Given the description of an element on the screen output the (x, y) to click on. 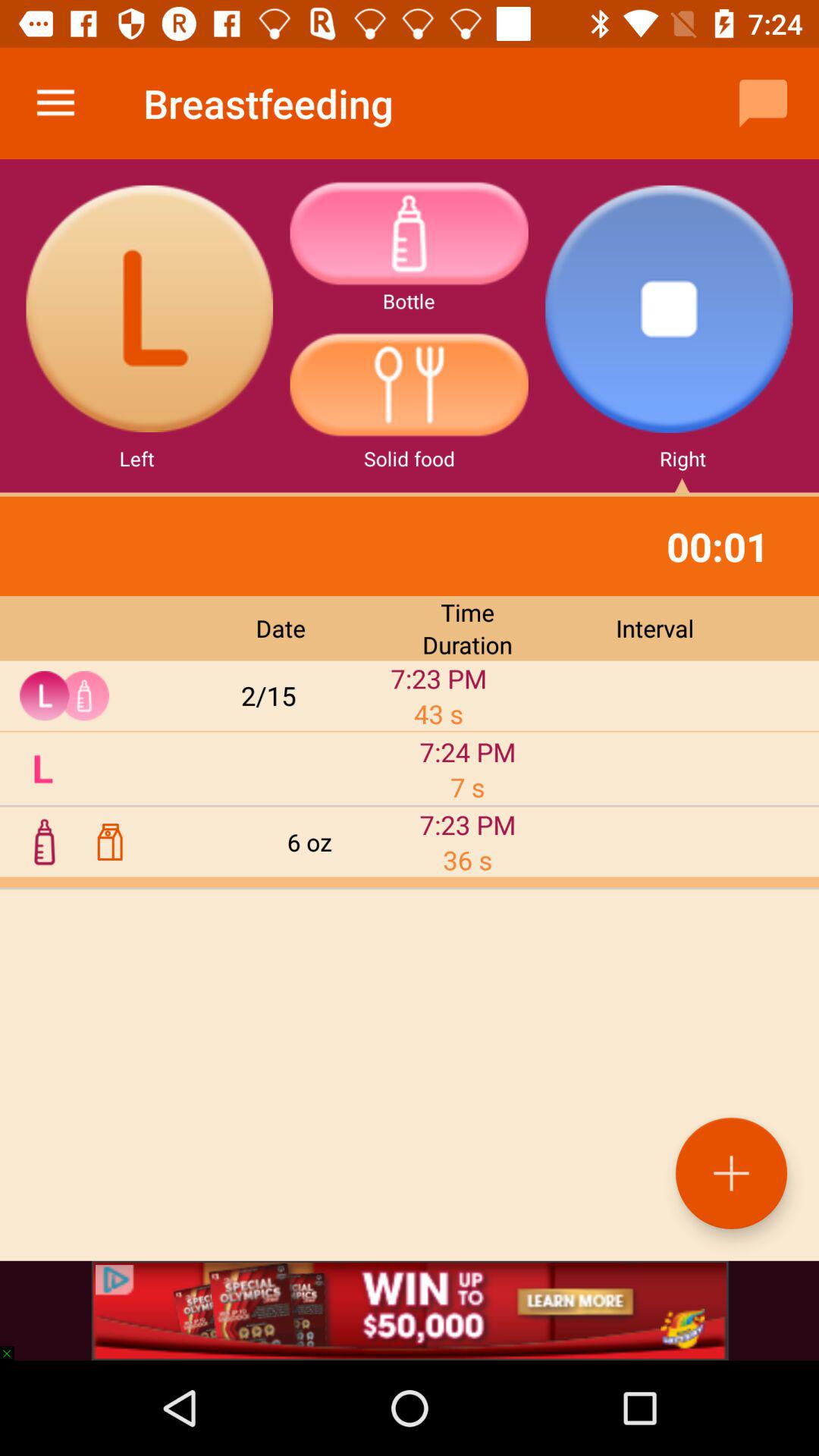
open the item next to the breastfeeding icon (763, 103)
